Given the description of an element on the screen output the (x, y) to click on. 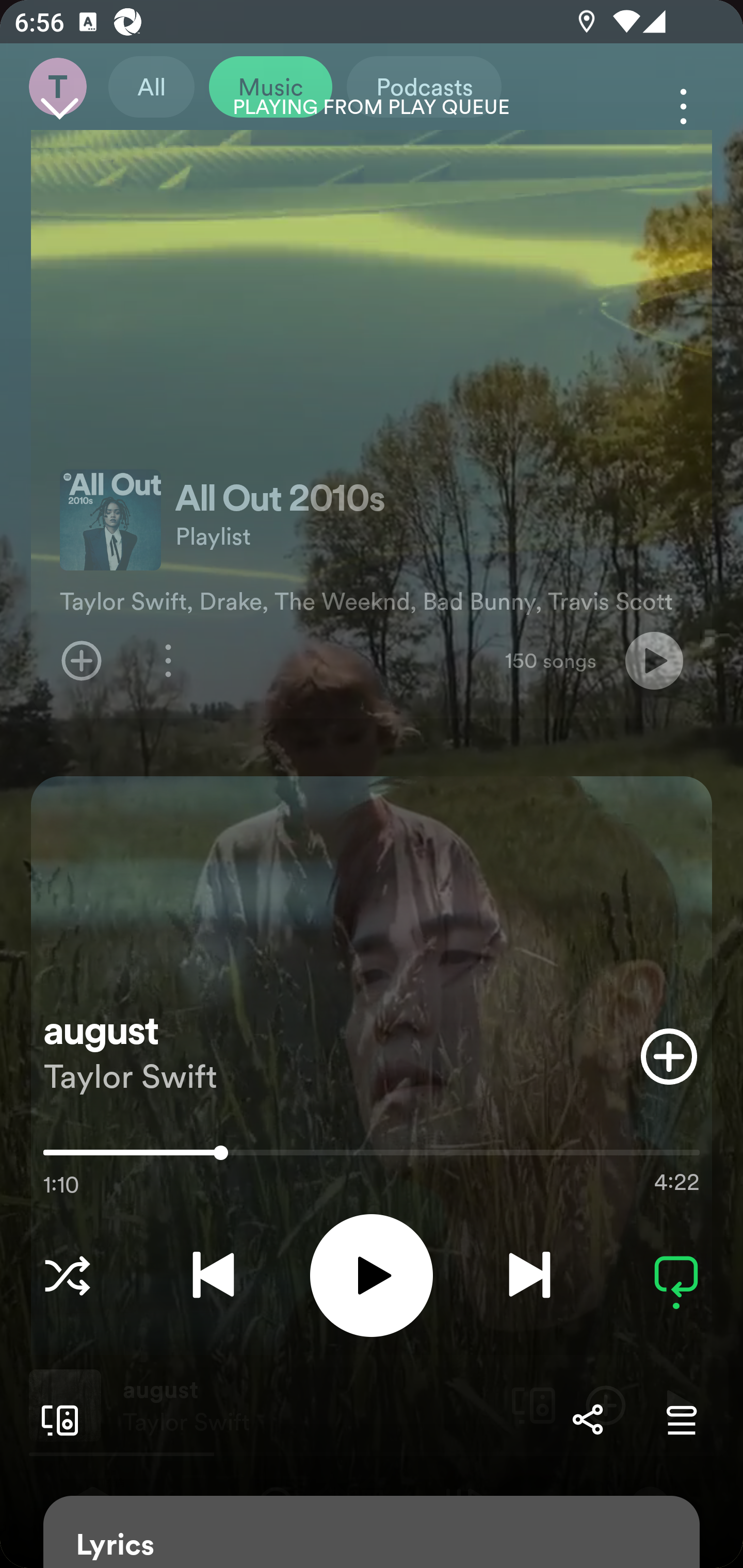
Close (59, 106)
More options for song august (683, 106)
PLAYING FROM PLAY QUEUE (371, 107)
Add item (669, 1056)
1:10 4:22 70757.0 Use volume keys to adjust (371, 1157)
Play (371, 1275)
Previous (212, 1275)
Next (529, 1275)
Choose a Listening Mode (66, 1275)
Repeat (676, 1275)
Share (587, 1419)
Go to Queue (681, 1419)
Connect to a device. Opens the devices menu (55, 1419)
Lyrics (371, 1531)
